Given the description of an element on the screen output the (x, y) to click on. 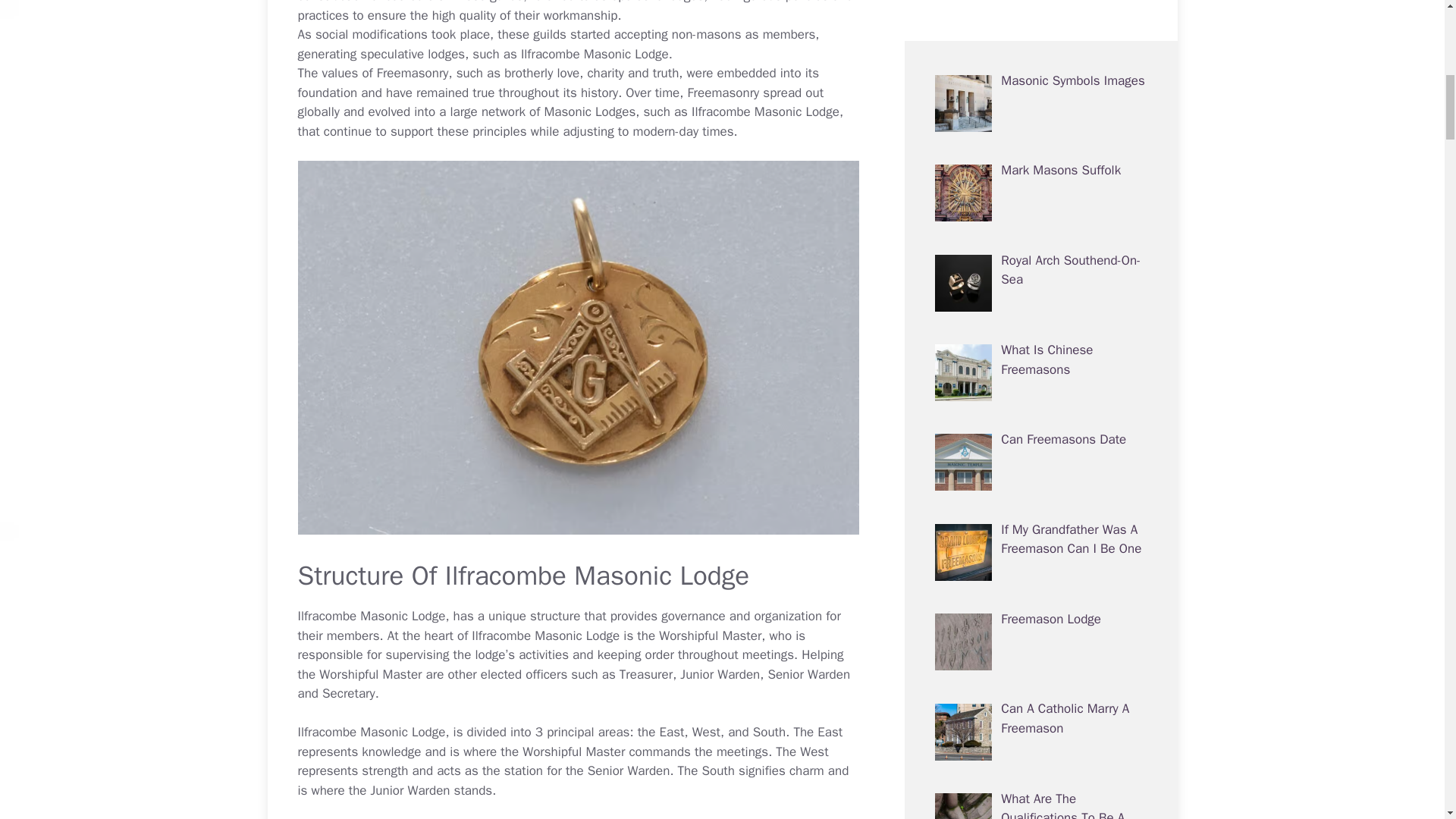
Masonic Lodge South Glamorgan (1061, 241)
What Are The Qualifications To Be A Freemason (1062, 72)
Royal Arch Northern Ireland (1056, 510)
Is Freemasonry British (1063, 411)
Scroll back to top (1406, 720)
Knights Templar Lanarkshire (1046, 690)
How Much Does Freemasonry Cost (1051, 331)
How To Apply To Be A Freemason (1061, 151)
Is An Entered Apprentice Considered A Mason (1070, 780)
What Is A Masonic Center (1074, 590)
